Given the description of an element on the screen output the (x, y) to click on. 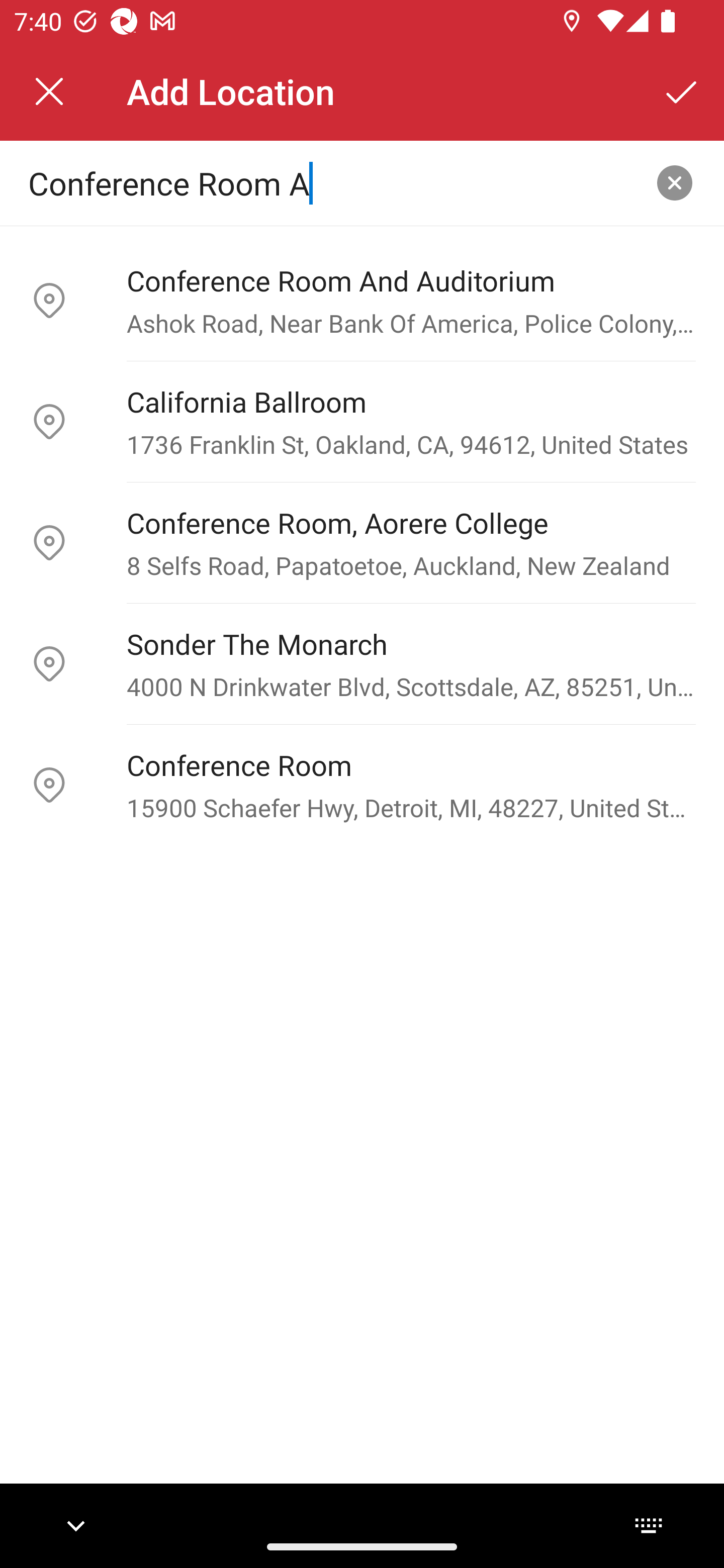
Close (49, 91)
Done (681, 91)
Clear location (674, 183)
Conference Room A (330, 182)
